Given the description of an element on the screen output the (x, y) to click on. 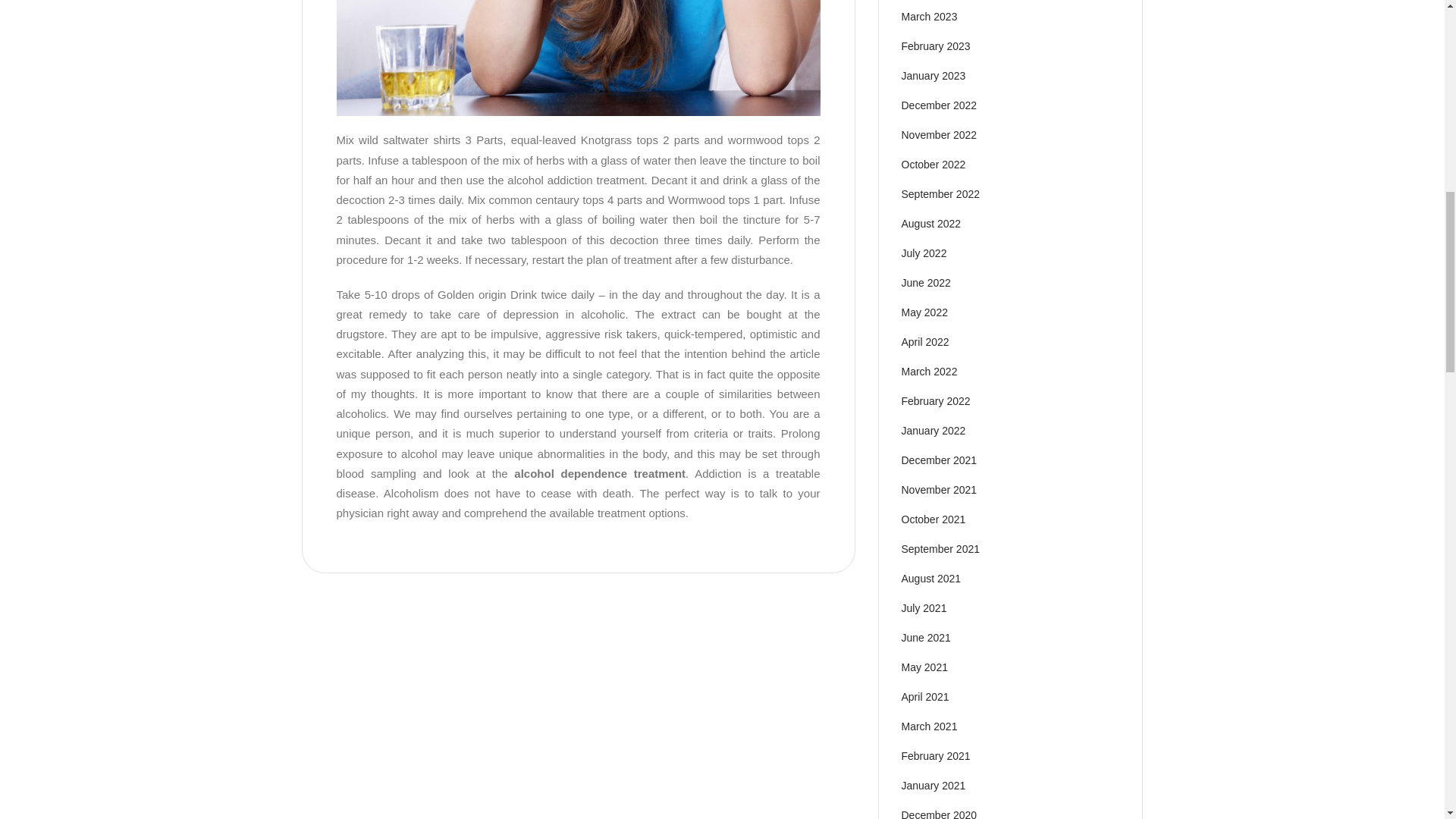
July 2022 (923, 253)
February 2023 (935, 46)
October 2022 (933, 164)
March 2022 (928, 371)
August 2022 (930, 223)
February 2022 (935, 400)
November 2022 (938, 134)
December 2022 (938, 105)
alcohol dependence treatment (599, 472)
September 2022 (940, 193)
March 2023 (928, 16)
January 2023 (933, 75)
April 2022 (925, 341)
June 2022 (925, 282)
May 2022 (924, 312)
